Given the description of an element on the screen output the (x, y) to click on. 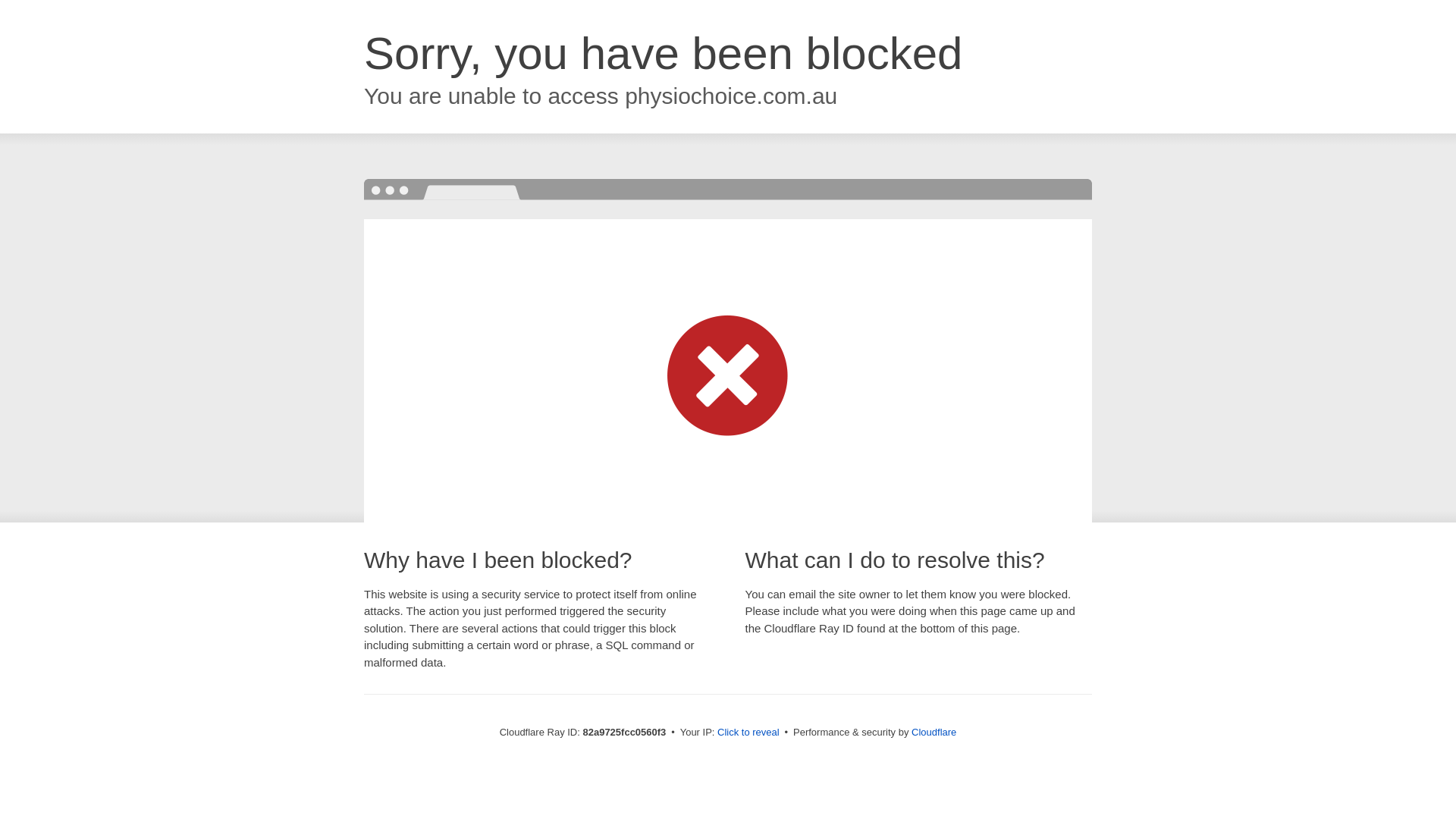
Click to reveal Element type: text (748, 732)
Cloudflare Element type: text (933, 731)
